Given the description of an element on the screen output the (x, y) to click on. 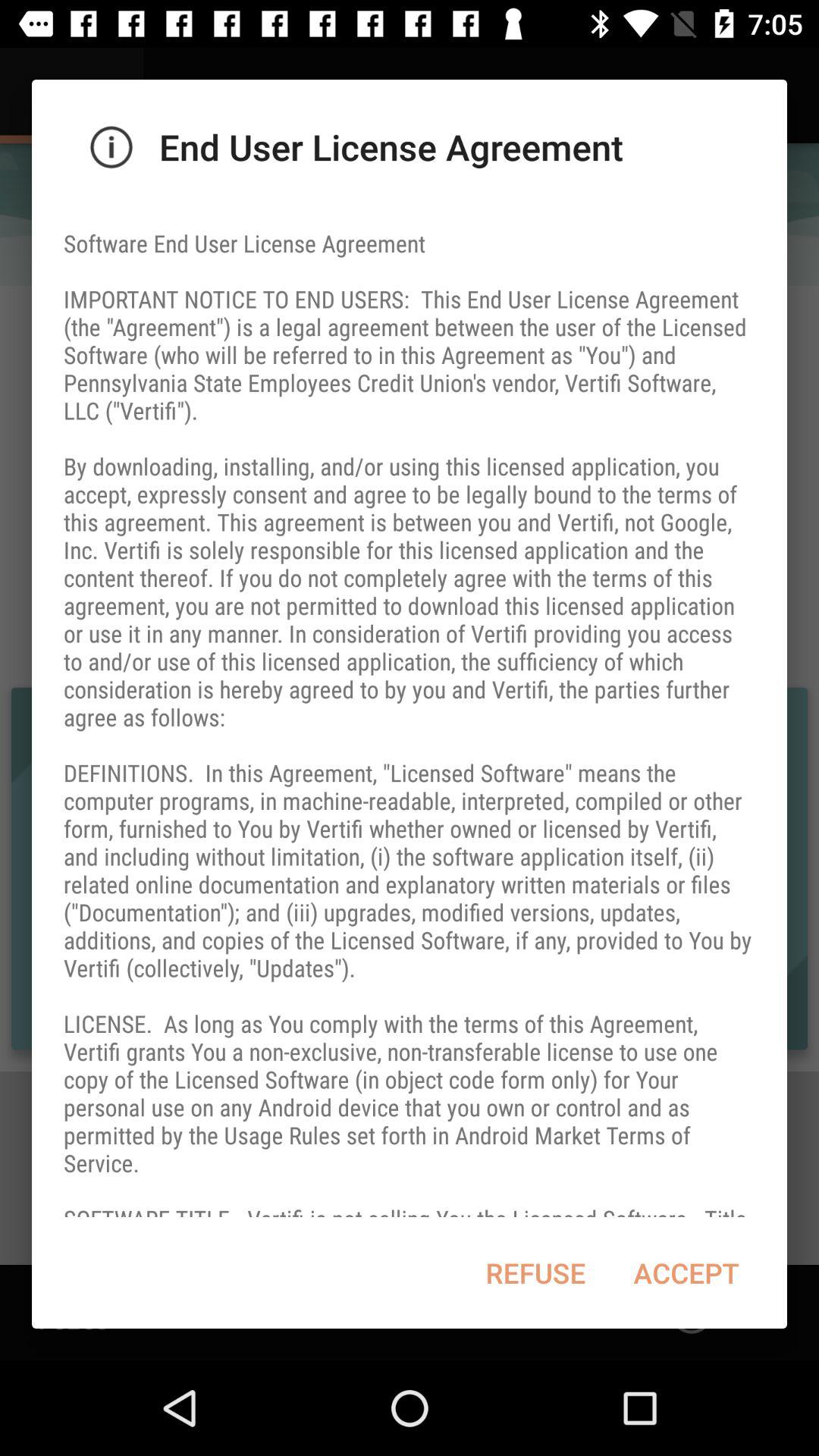
press refuse at the bottom (535, 1272)
